Given the description of an element on the screen output the (x, y) to click on. 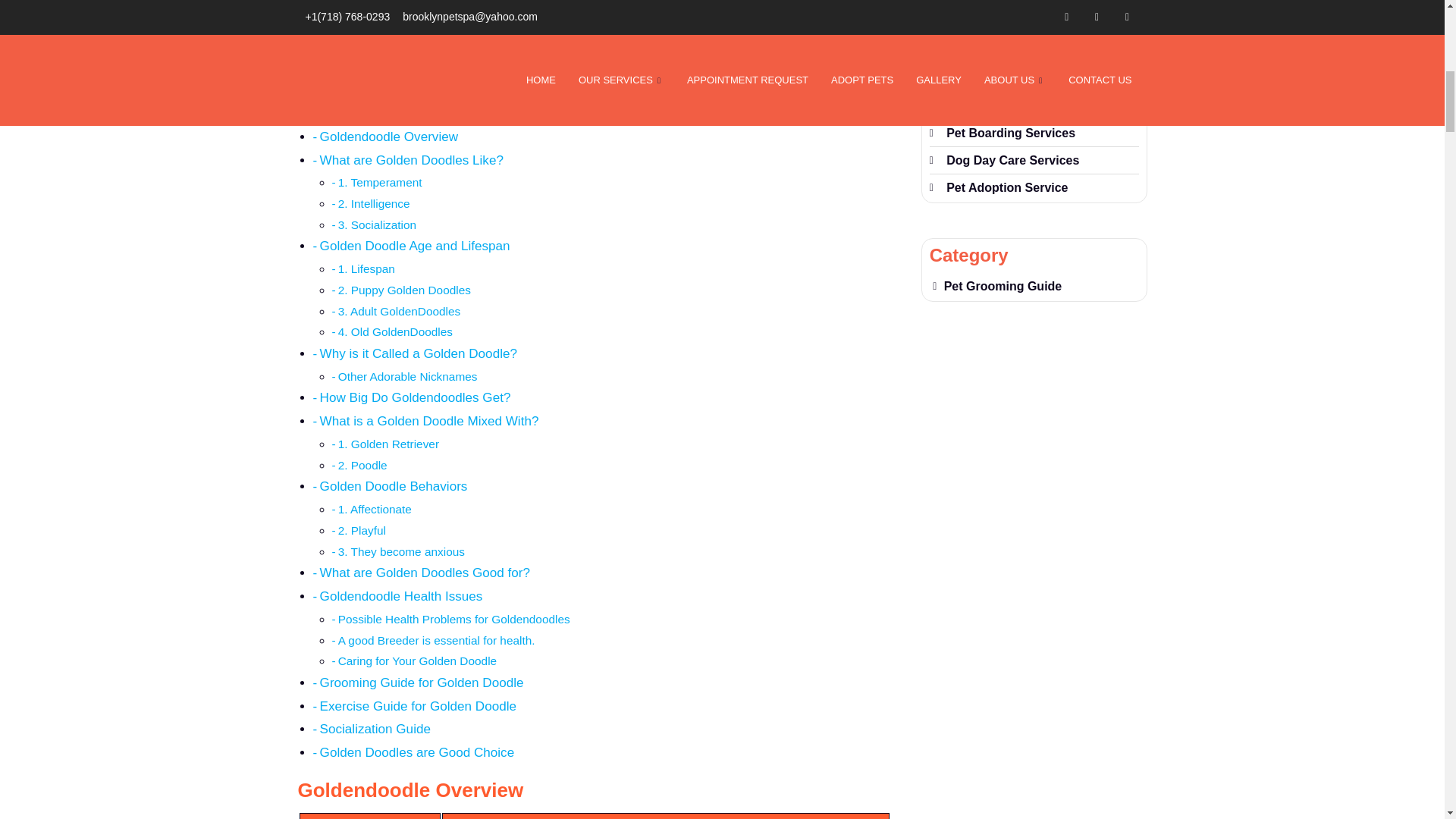
What are Golden Doodles Like? (411, 160)
Other Adorable Nicknames (407, 376)
Why is it Called a Golden Doodle? (418, 353)
Goldendoodle Overview (389, 136)
3. Socialization (376, 224)
Golden Doodle Age and Lifespan (415, 246)
How Big Do Goldendoodles Get? (415, 397)
1. Temperament (379, 182)
1. Lifespan (365, 268)
Goldendoodle Overview (389, 136)
3. Adult GoldenDoodles (399, 310)
What are Golden Doodles Like? (411, 160)
4. Old GoldenDoodles (394, 331)
2. Puppy Golden Doodles (403, 289)
Golden Doodle Age and Lifespan (415, 246)
